Given the description of an element on the screen output the (x, y) to click on. 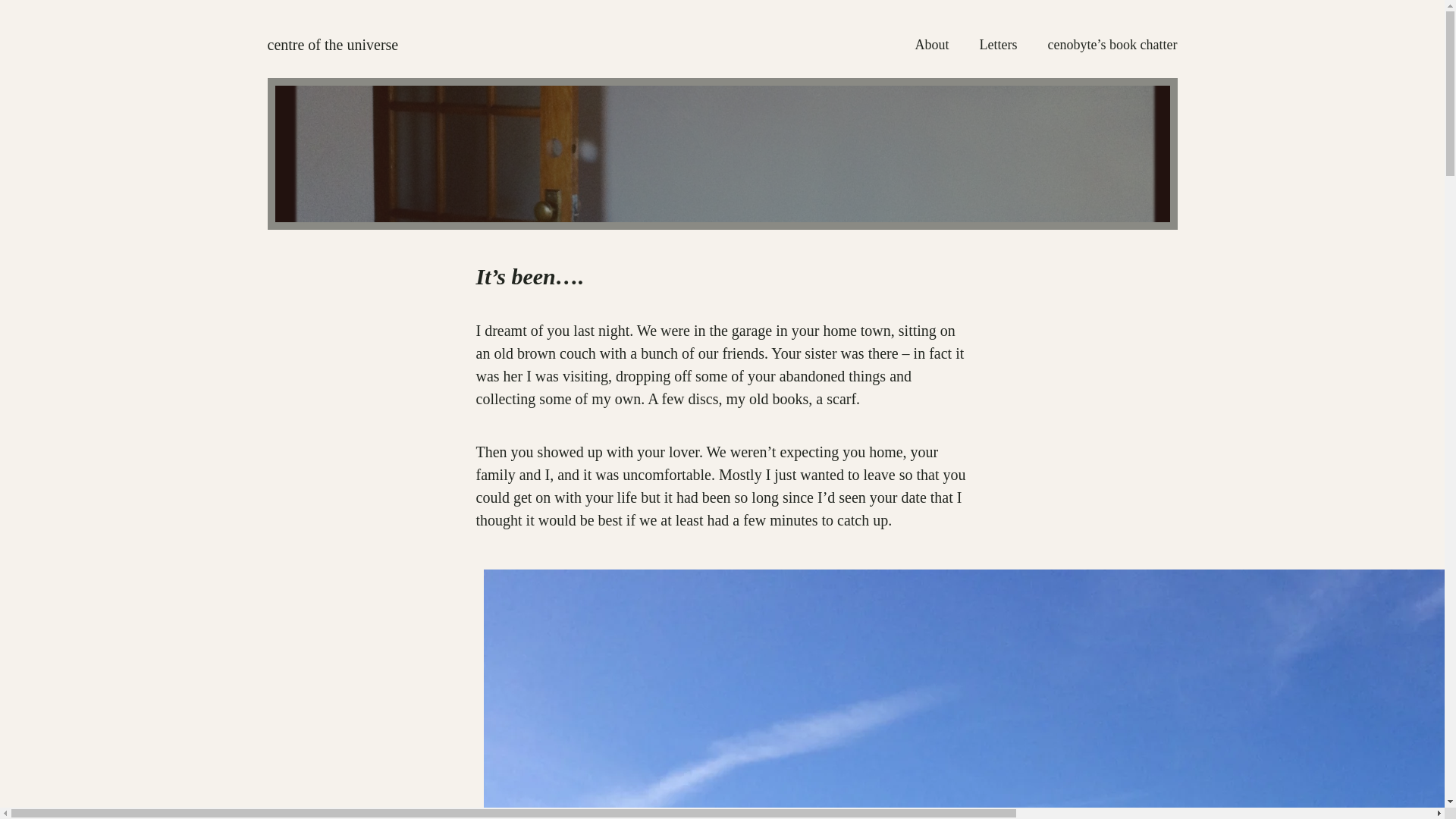
Letters (998, 45)
centre of the universe (331, 44)
About (932, 45)
